Given the description of an element on the screen output the (x, y) to click on. 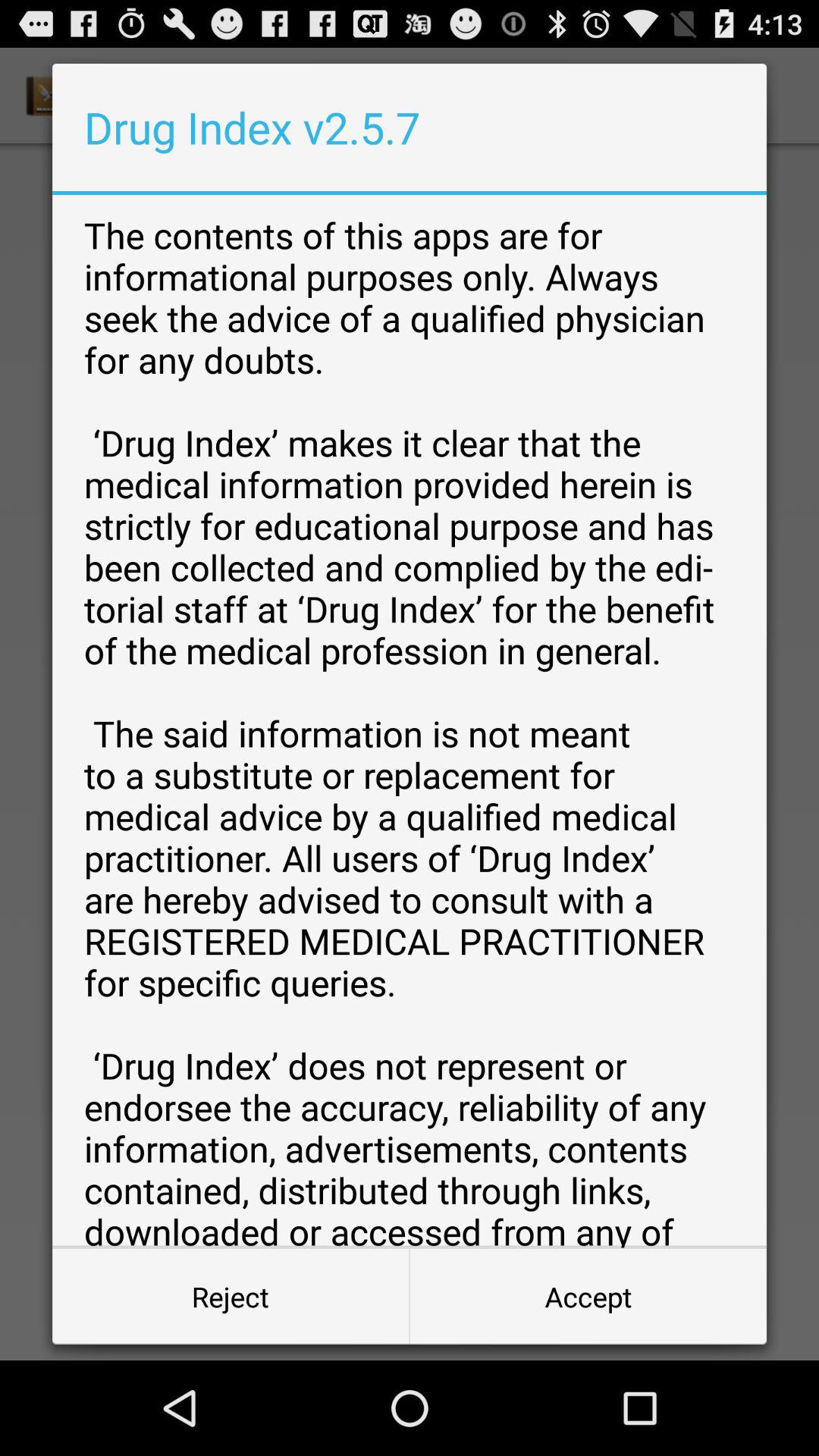
tap item next to the reject item (588, 1296)
